Given the description of an element on the screen output the (x, y) to click on. 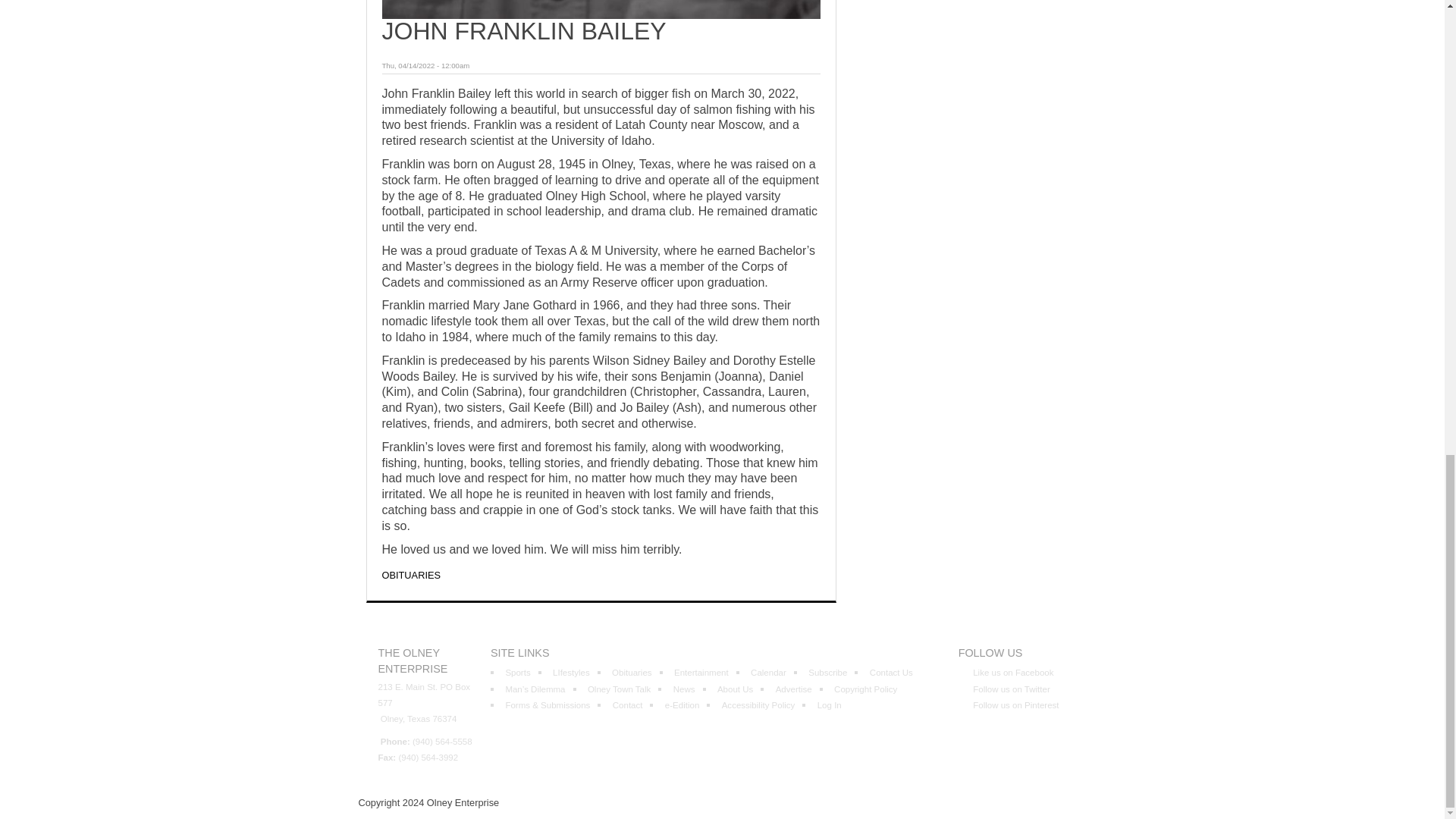
Subscribe (827, 672)
LIfestyles (571, 672)
Entertainment (701, 672)
Calendar (768, 672)
Sports (517, 672)
Sports (517, 672)
Obituaries (630, 672)
Contact Us (890, 672)
OBITUARIES (411, 574)
